Given the description of an element on the screen output the (x, y) to click on. 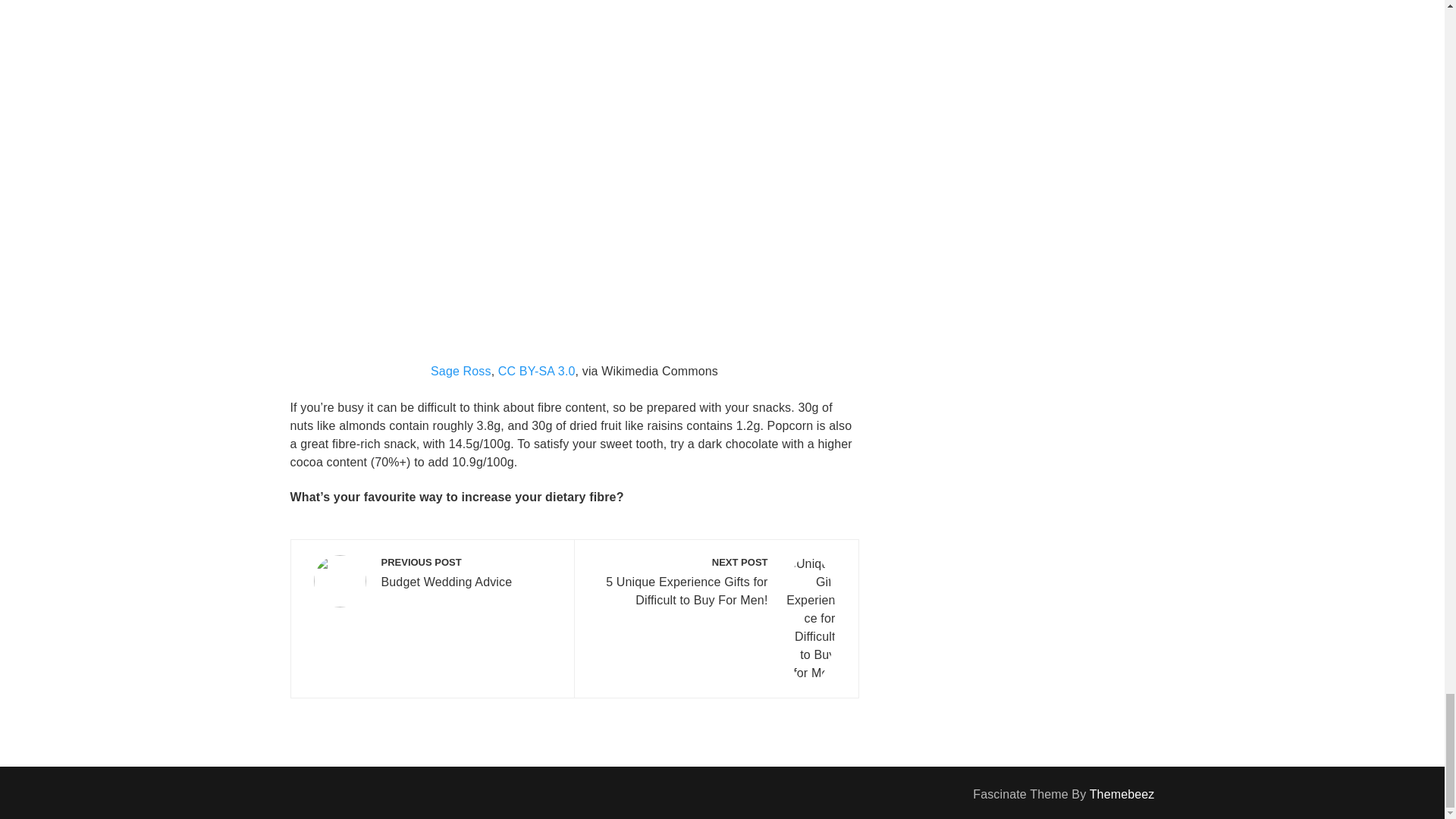
Sage Ross (461, 370)
CC BY-SA 3.0 (432, 581)
